Given the description of an element on the screen output the (x, y) to click on. 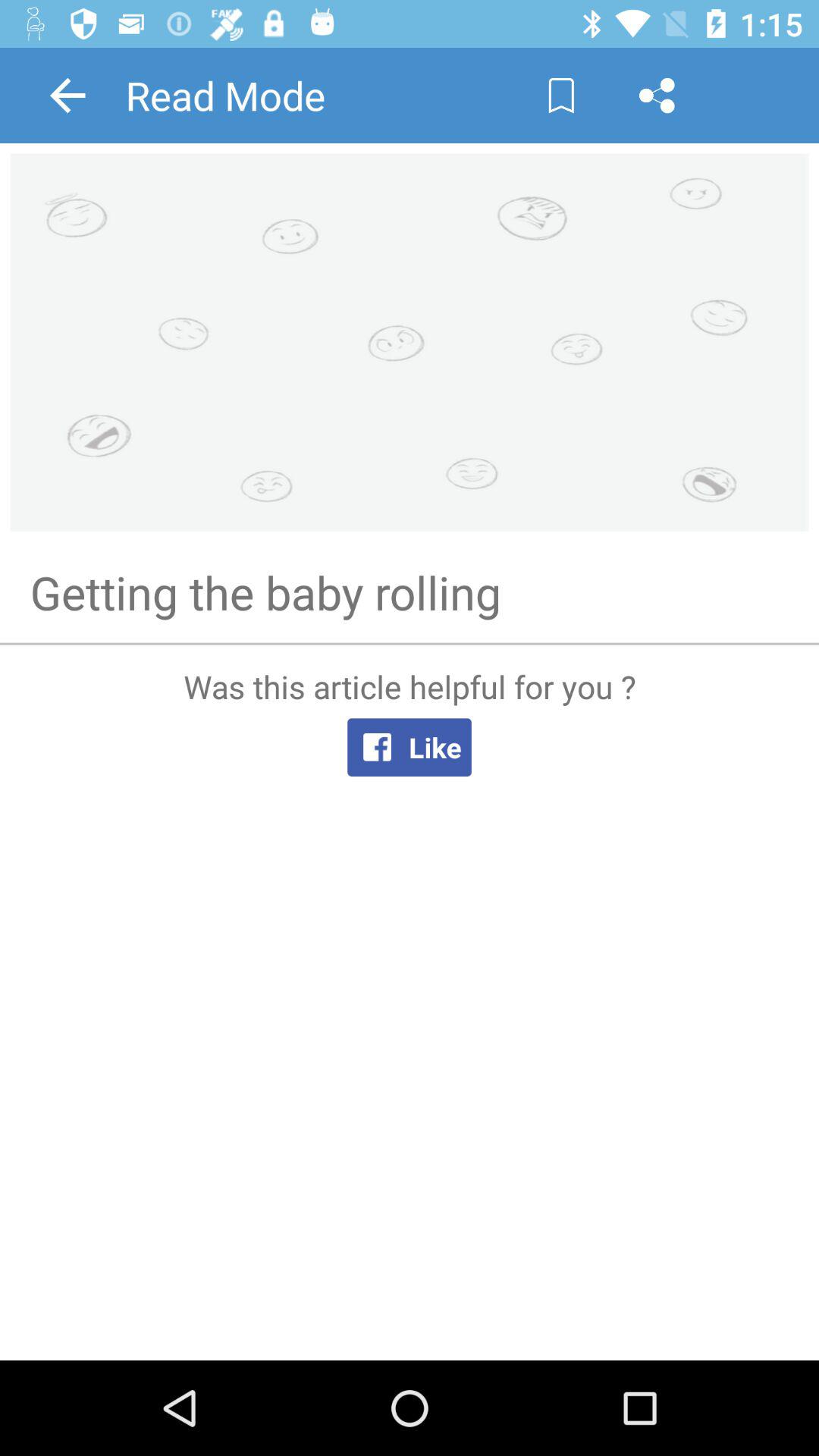
share the article (656, 95)
